Given the description of an element on the screen output the (x, y) to click on. 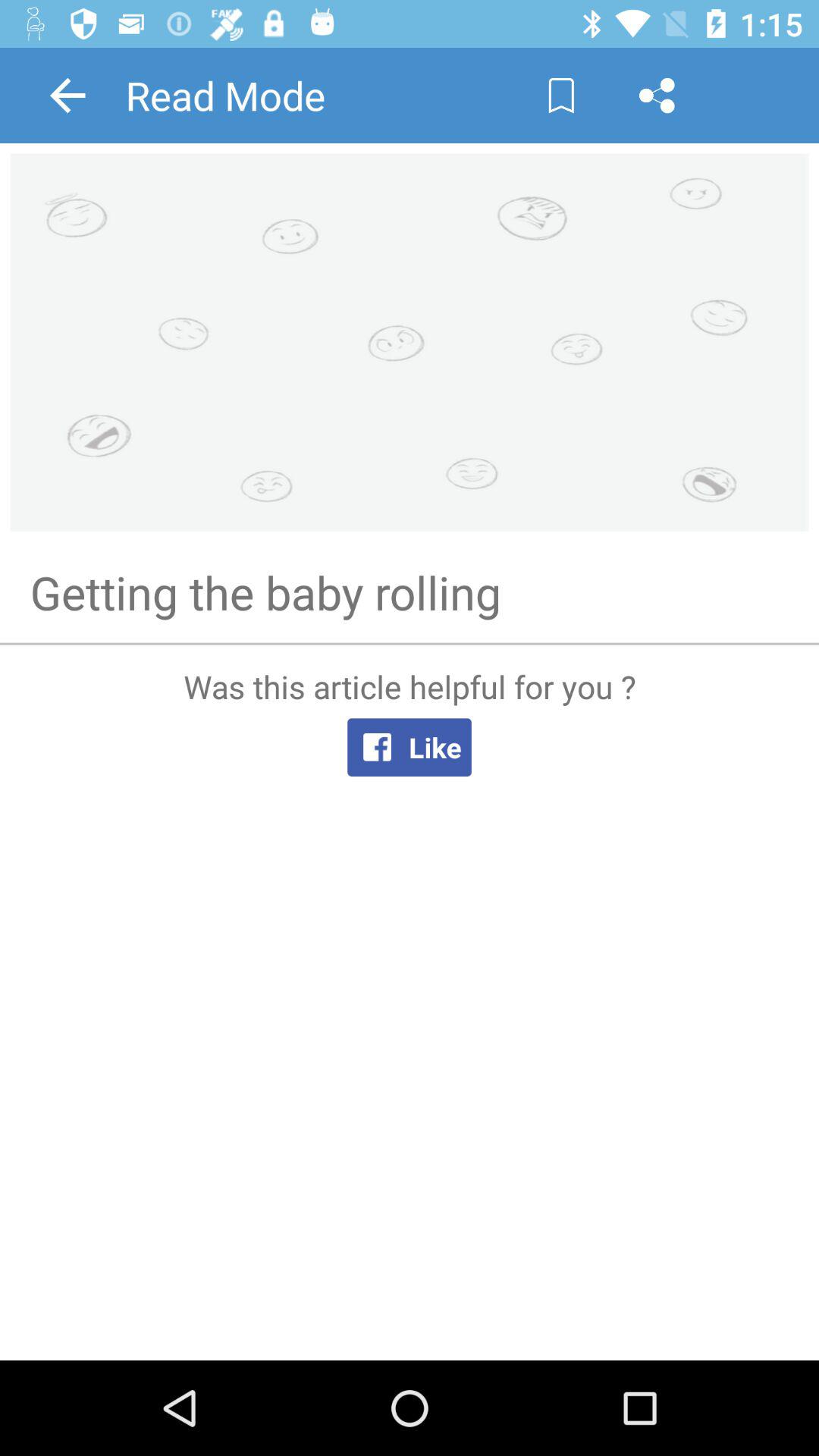
share the article (656, 95)
